Given the description of an element on the screen output the (x, y) to click on. 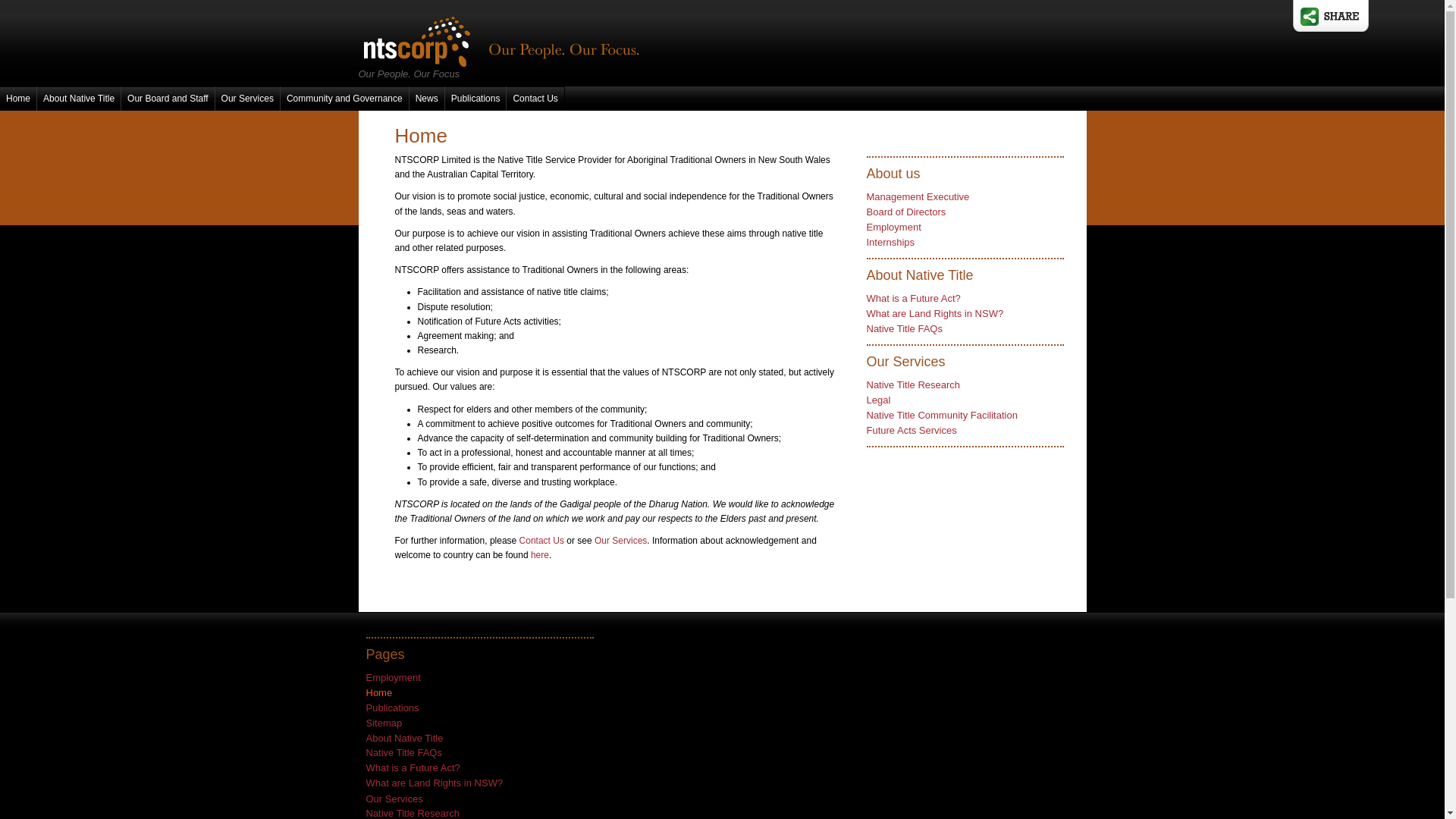
News Element type: text (426, 98)
What are Land Rights in NSW? Element type: text (433, 781)
Native Title Community Facilitation Element type: text (941, 414)
Management Executive Element type: text (917, 196)
Native Title Research Element type: text (412, 812)
Contact Us Element type: text (541, 540)
Sitemap Element type: text (383, 722)
What is a Future Act? Element type: text (412, 766)
Employment Element type: text (392, 677)
Publications Element type: text (475, 98)
Our Services Element type: text (247, 98)
Native Title FAQs Element type: text (403, 751)
Our Board and Staff Element type: text (167, 98)
Publications Element type: text (391, 707)
About Native Title Element type: text (78, 98)
Contact Us Element type: text (534, 98)
Our Services Element type: text (393, 798)
Native Title Research Element type: text (913, 384)
Legal Element type: text (878, 399)
What are Land Rights in NSW? Element type: text (934, 313)
Internships Element type: text (890, 241)
Future Acts Services Element type: text (911, 430)
Board of Directors Element type: text (905, 211)
Native Title FAQs Element type: text (903, 328)
What is a Future Act? Element type: text (913, 298)
Home Element type: text (378, 692)
Our Services Element type: text (620, 540)
Employment Element type: text (893, 226)
here Element type: text (539, 554)
About Native Title Element type: text (403, 737)
Community and Governance Element type: text (344, 98)
